Given the description of an element on the screen output the (x, y) to click on. 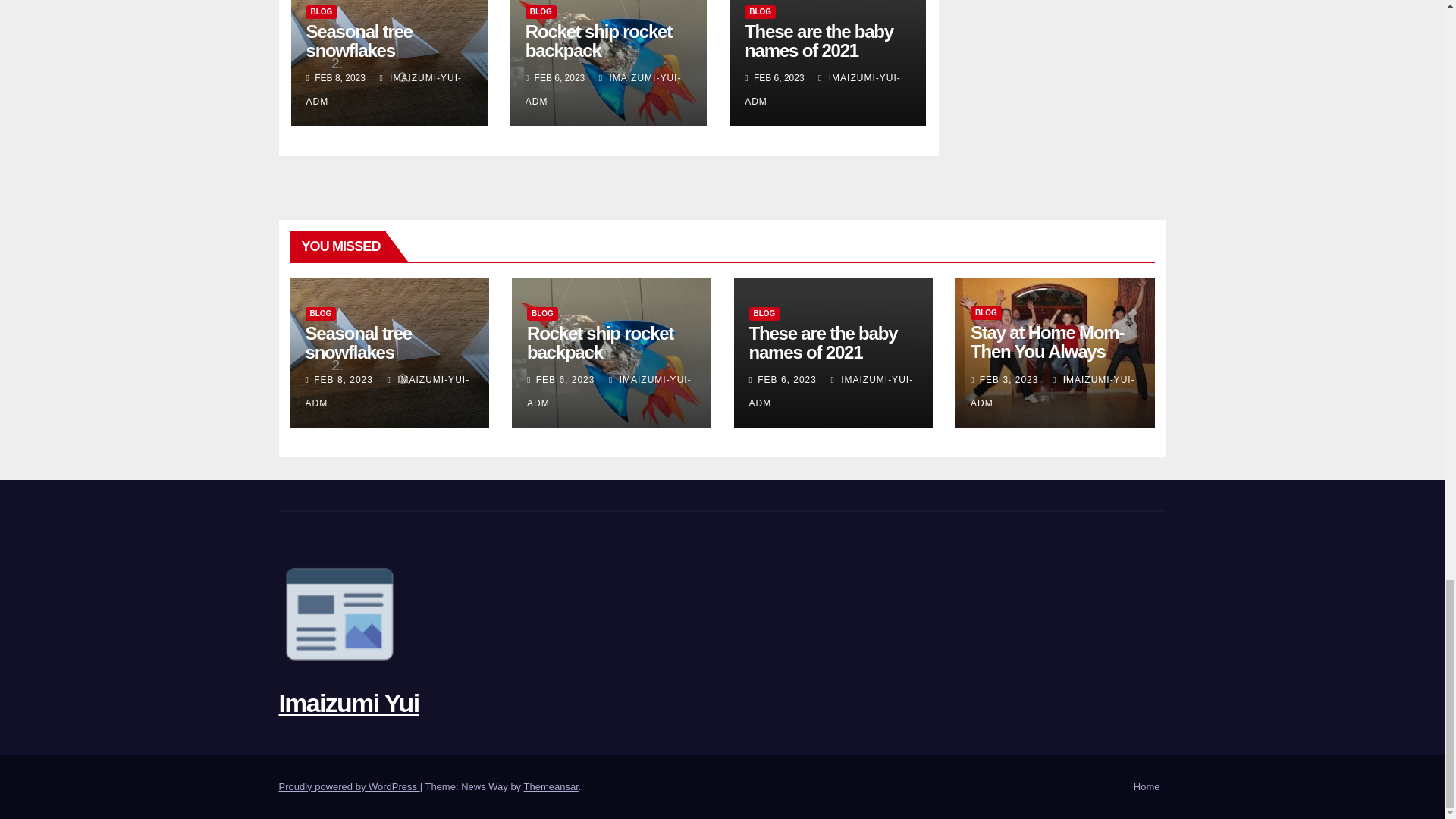
Seasonal tree snowflakes (357, 342)
Permalink to: These are the baby names of 2021 (823, 342)
Permalink to: Rocket ship rocket backpack (599, 342)
IMAIZUMI-YUI-ADM (822, 89)
BLOG (540, 11)
These are the baby names of 2021 (818, 40)
BLOG (320, 314)
Rocket ship rocket backpack (598, 40)
Permalink to: Seasonal tree snowflakes (357, 342)
Permalink to: Stay at Home Mom-Then You Always Have Vacation (1047, 351)
IMAIZUMI-YUI-ADM (386, 391)
BLOG (760, 11)
IMAIZUMI-YUI-ADM (384, 89)
FEB 8, 2023 (343, 379)
Permalink to: Rocket ship rocket backpack (598, 40)
